Given the description of an element on the screen output the (x, y) to click on. 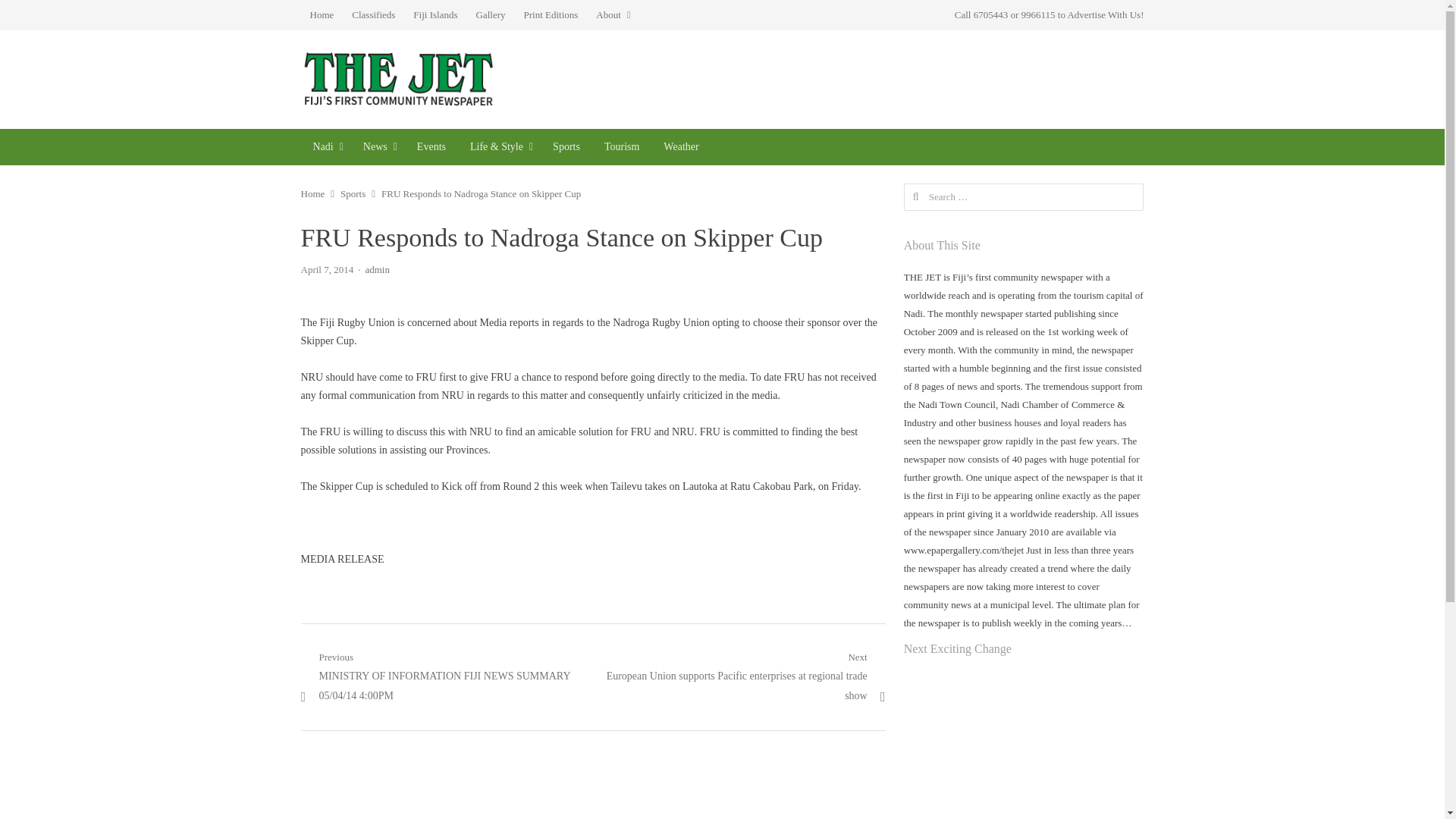
Home (320, 14)
About (612, 14)
Classifieds (373, 14)
NADI CDN (324, 146)
Print Editions (549, 14)
Fiji Islands (434, 14)
Gallery (491, 14)
